Given the description of an element on the screen output the (x, y) to click on. 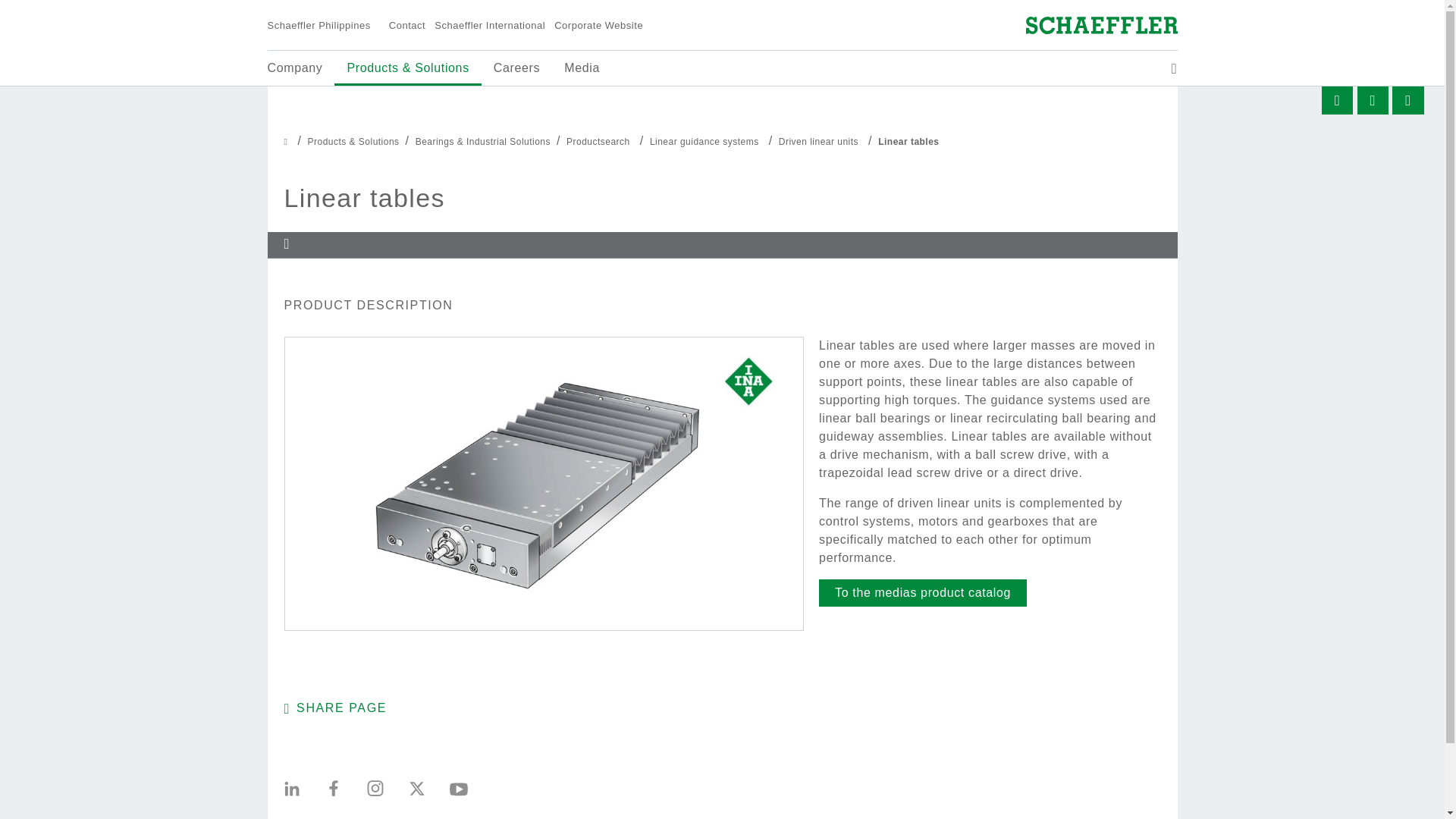
Corporate Website (593, 25)
Schaeffler International (484, 25)
Schaeffler International (484, 25)
Contact (402, 25)
Corporate Website (593, 25)
Contact (402, 25)
